Given the description of an element on the screen output the (x, y) to click on. 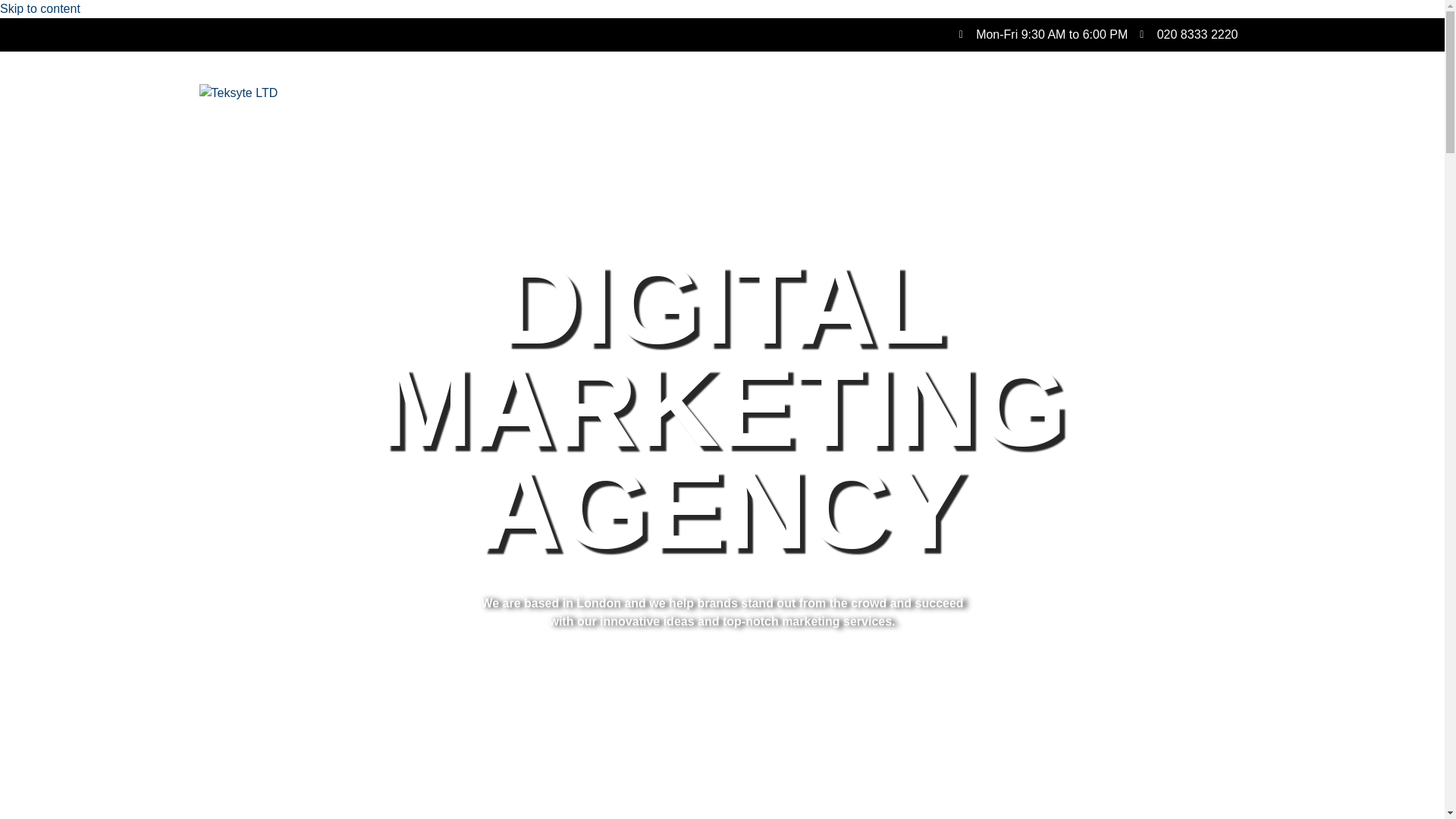
Skip to content (40, 8)
ABOUT (854, 93)
HOME (780, 93)
020 8333 2220 (1188, 34)
CONTACT (1204, 93)
PORTFOLIO (1107, 93)
BLOG (1020, 93)
Teksyte (238, 93)
SERVICES (939, 93)
